Given the description of an element on the screen output the (x, y) to click on. 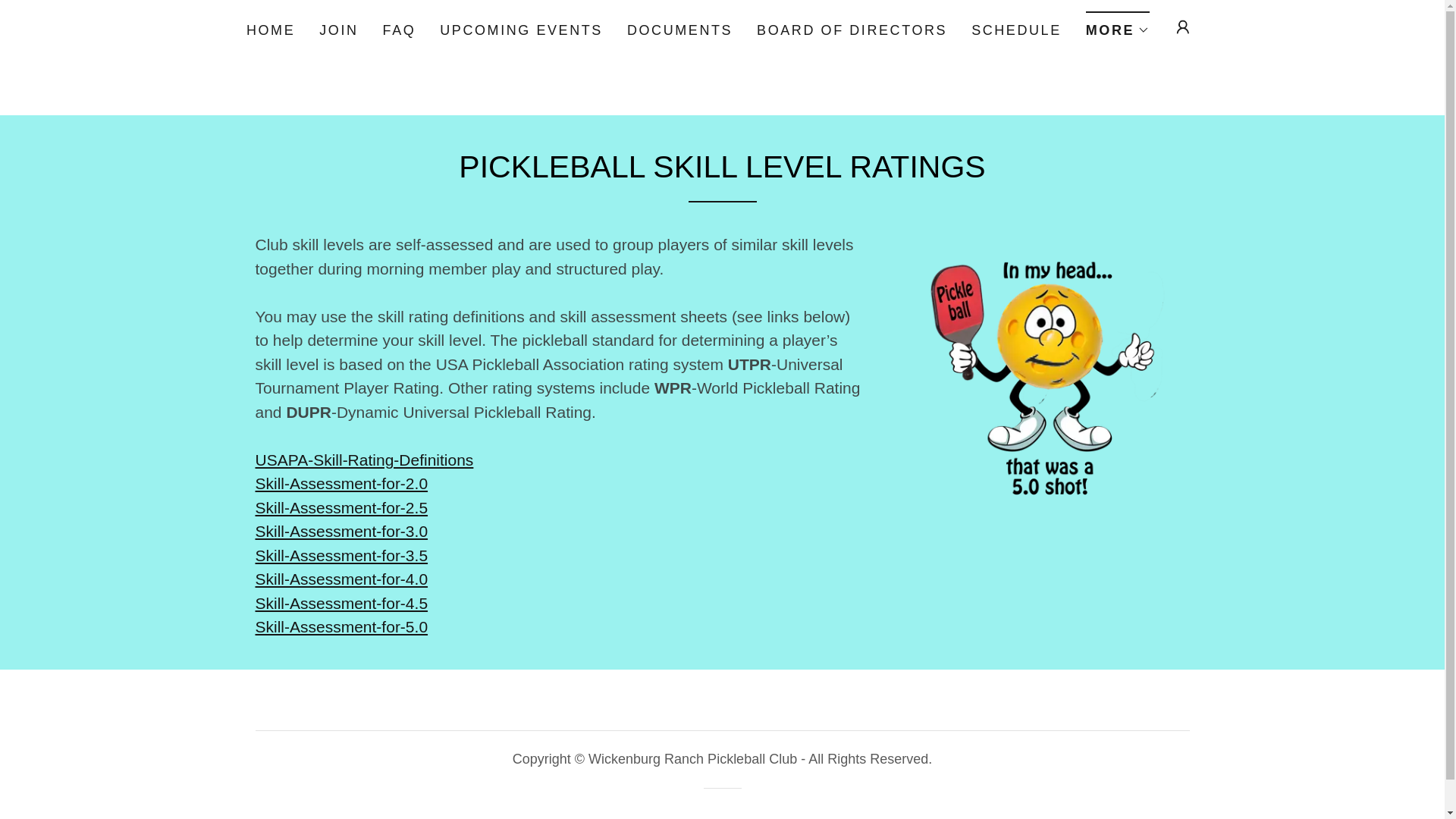
UPCOMING EVENTS (521, 30)
JOIN (338, 30)
BOARD OF DIRECTORS (852, 30)
MORE (1118, 25)
FAQ (399, 30)
SCHEDULE (1015, 30)
DOCUMENTS (679, 30)
HOME (270, 30)
